Given the description of an element on the screen output the (x, y) to click on. 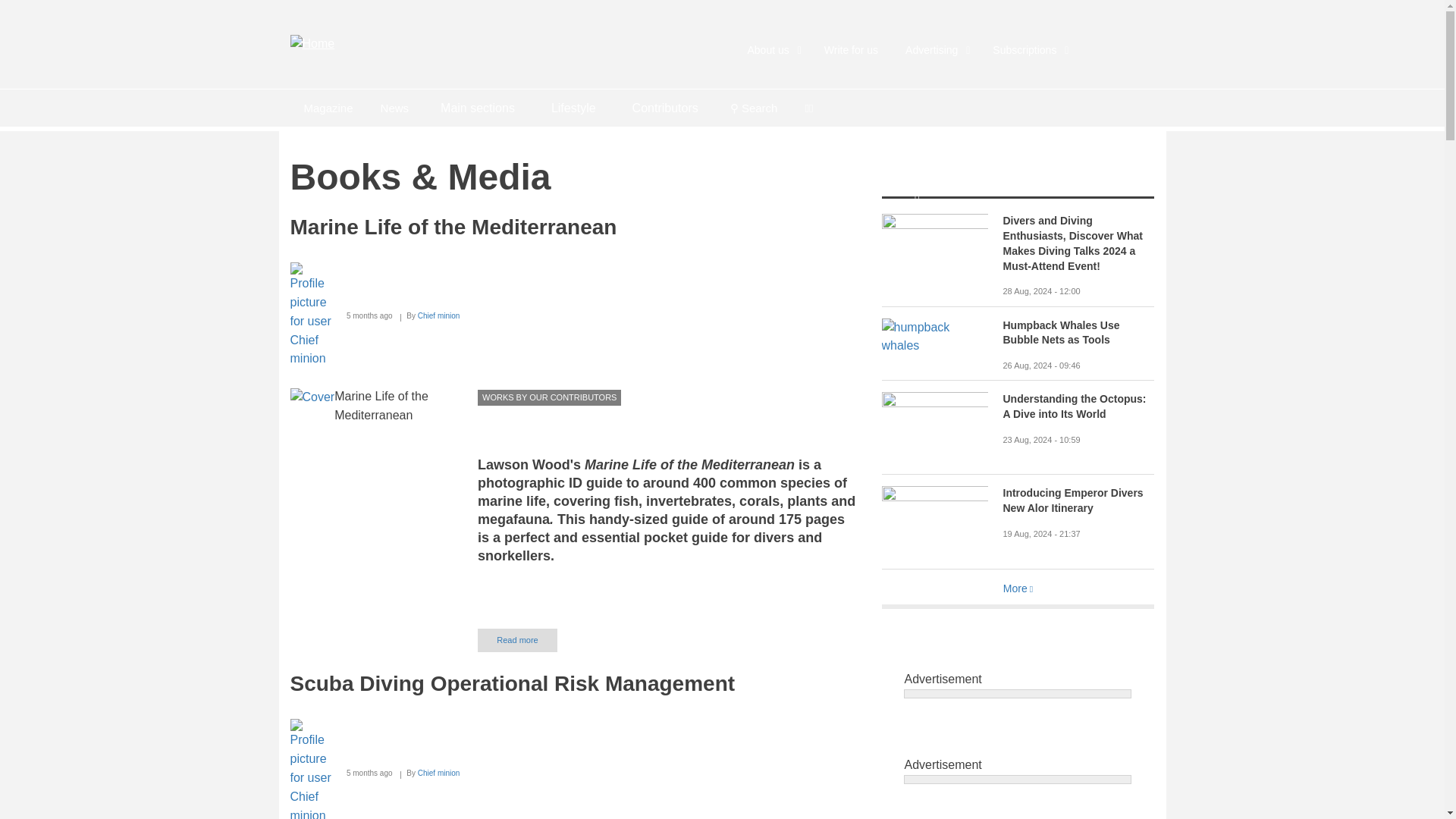
Latest posts (394, 107)
Subscriptions (1027, 50)
Advertising (934, 50)
Main sections (477, 108)
About us (771, 50)
Write for us (850, 50)
Back issues (327, 107)
News (394, 107)
Advertising and promotions (934, 50)
Home (311, 42)
